Given the description of an element on the screen output the (x, y) to click on. 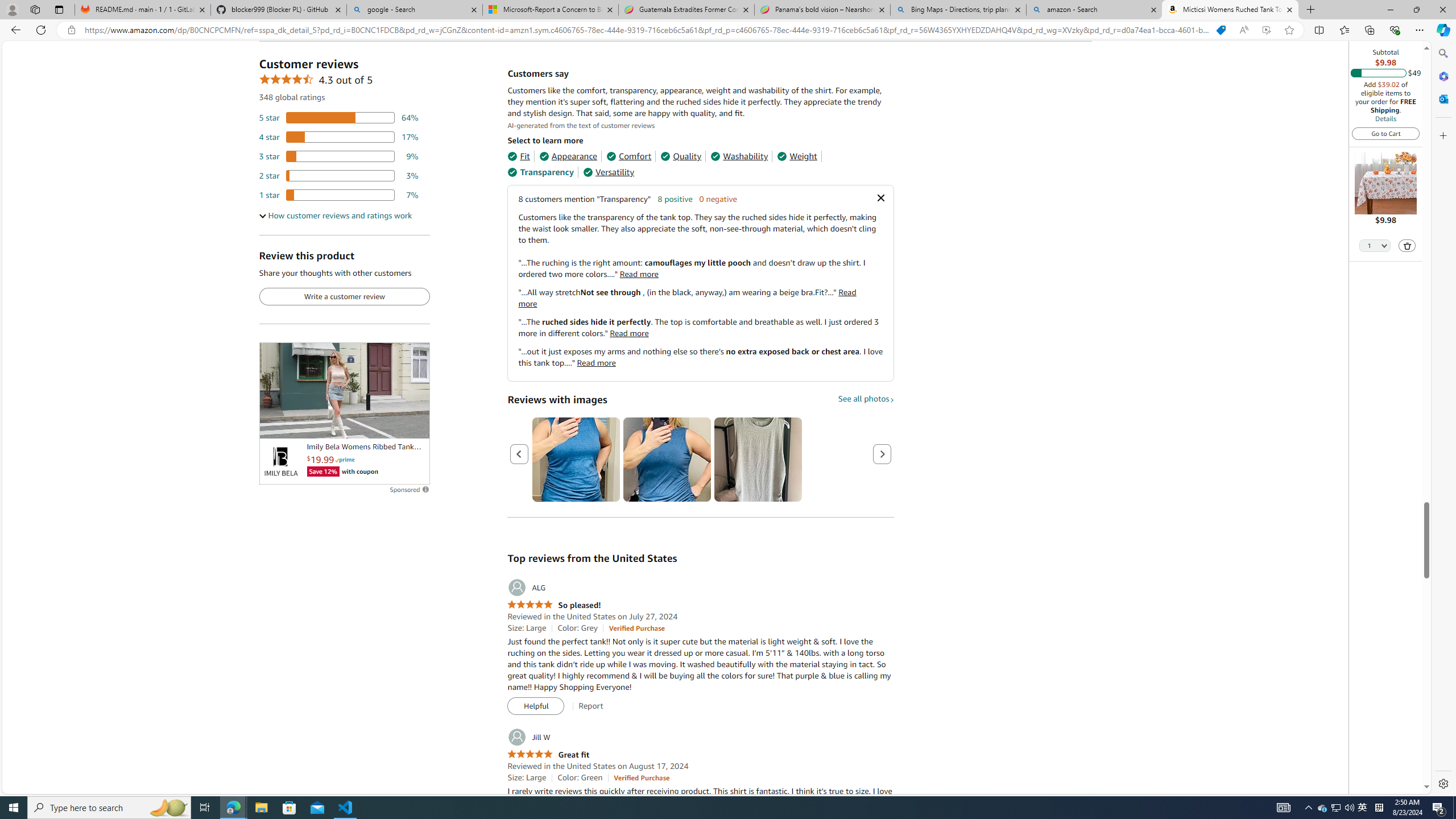
Previous page (518, 453)
Pause (273, 424)
Verified Purchase (640, 777)
Transparency (539, 172)
Unmute (414, 424)
Customer Image (758, 459)
Helpful (536, 705)
amazon - Search (1094, 9)
